Given the description of an element on the screen output the (x, y) to click on. 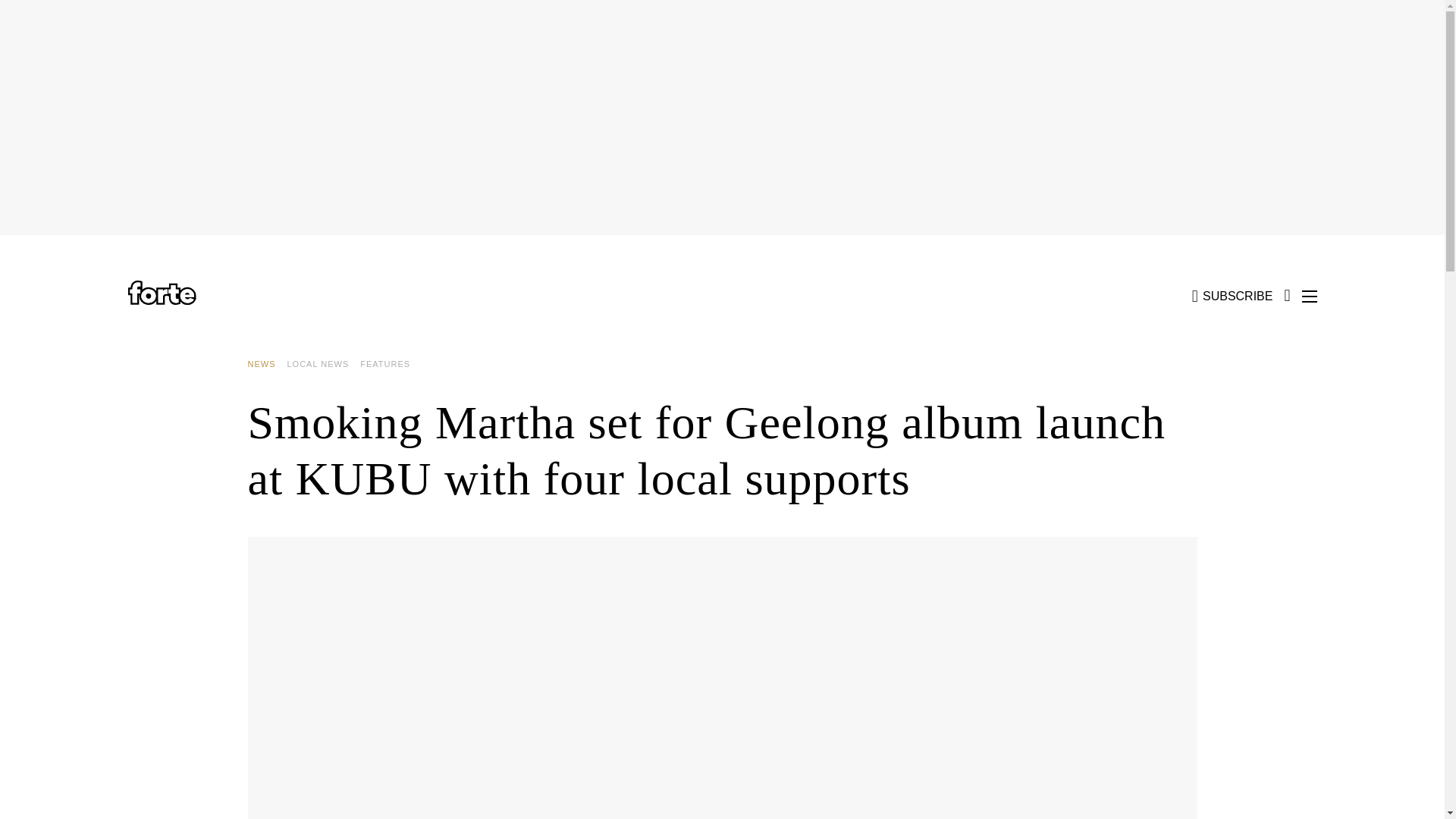
FEATURES (390, 364)
LOCAL NEWS (322, 364)
NEWS (266, 364)
